Given the description of an element on the screen output the (x, y) to click on. 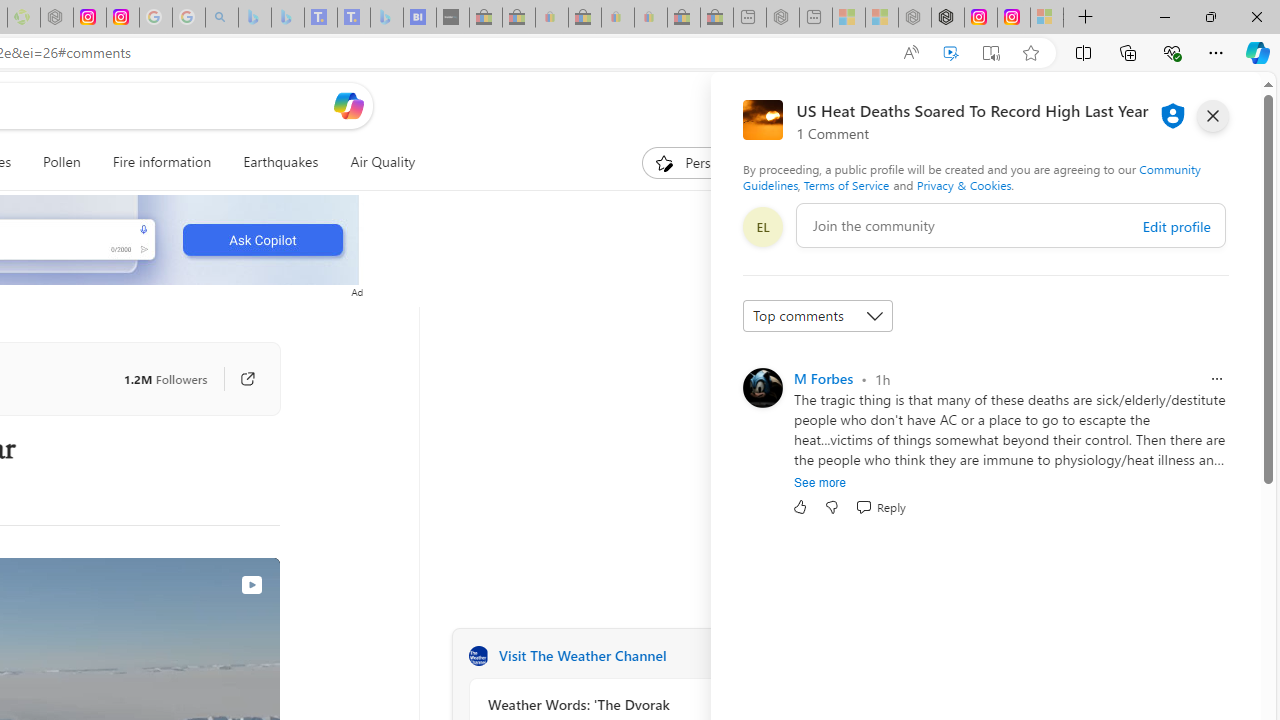
Visit The Weather Channel website (726, 655)
Reply Reply Comment (880, 507)
alabama high school quarterback dies - Search - Sleeping (222, 17)
Sign in to your Microsoft account - Sleeping (1046, 17)
Pollen (61, 162)
Go to publisher's site (247, 378)
Earthquakes (280, 162)
Earthquakes (280, 162)
Personalize (703, 162)
Safety in Our Products - Google Safety Center - Sleeping (155, 17)
close (1212, 115)
